Given the description of an element on the screen output the (x, y) to click on. 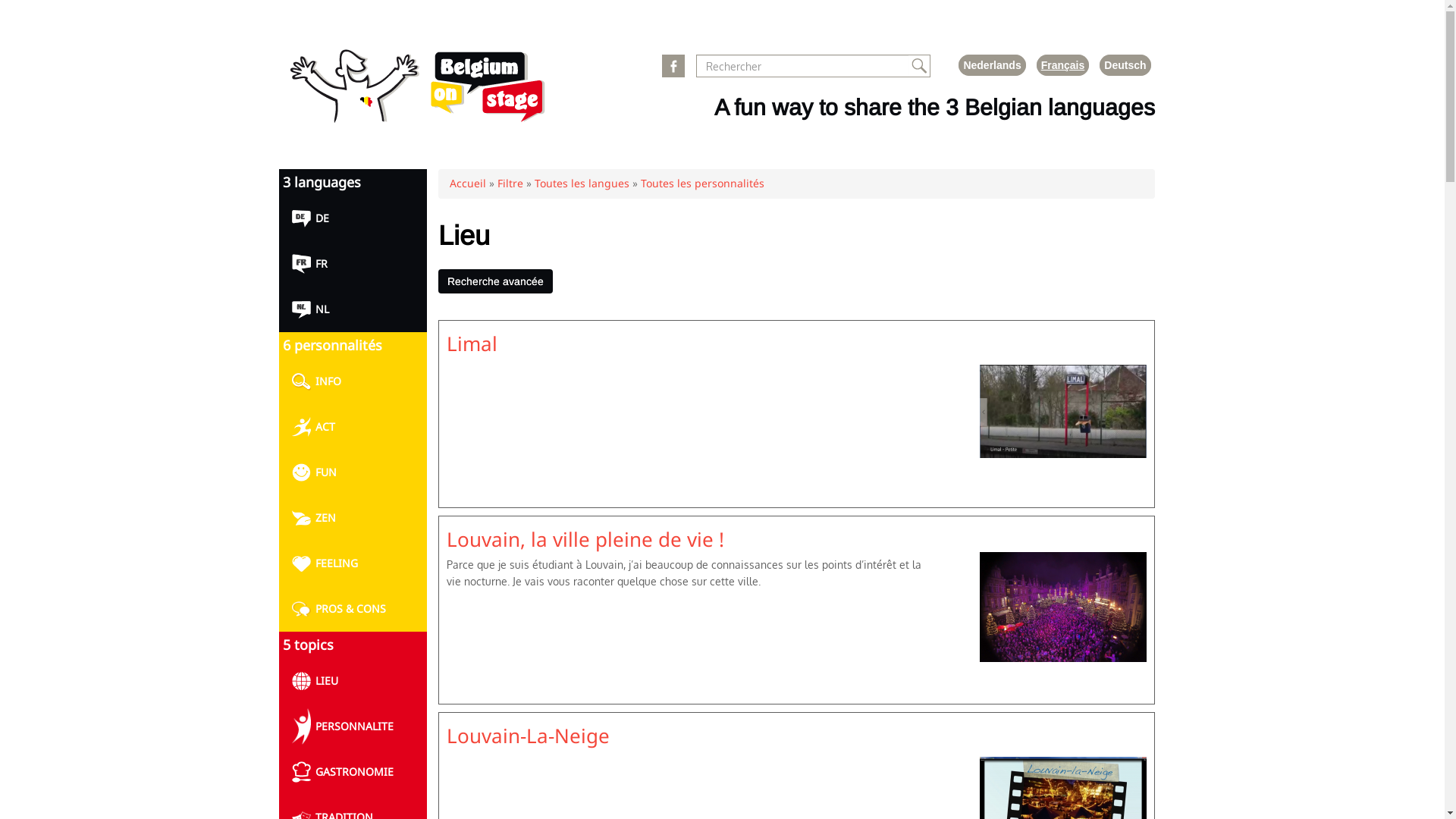
FEELING Element type: text (352, 563)
Nederlands Element type: text (991, 64)
INFO Element type: text (352, 381)
Limal Element type: text (470, 343)
NL Element type: text (352, 309)
FUN Element type: text (352, 472)
Toutes les langues Element type: text (580, 182)
Louvain-La-Neige Element type: text (526, 735)
FR Element type: text (352, 263)
Filtre Element type: text (510, 182)
ACT Element type: text (352, 426)
ZEN Element type: text (352, 517)
GASTRONOMIE Element type: text (352, 771)
DE Element type: text (352, 218)
LIEU Element type: text (352, 680)
fb Element type: text (673, 65)
PROS & CONS Element type: text (352, 608)
Louvain, la ville pleine de vie ! Element type: text (584, 538)
Accueil Element type: hover (416, 118)
Deutsch Element type: text (1124, 64)
PERSONNALITE Element type: text (352, 726)
Accueil Element type: text (466, 182)
